Given the description of an element on the screen output the (x, y) to click on. 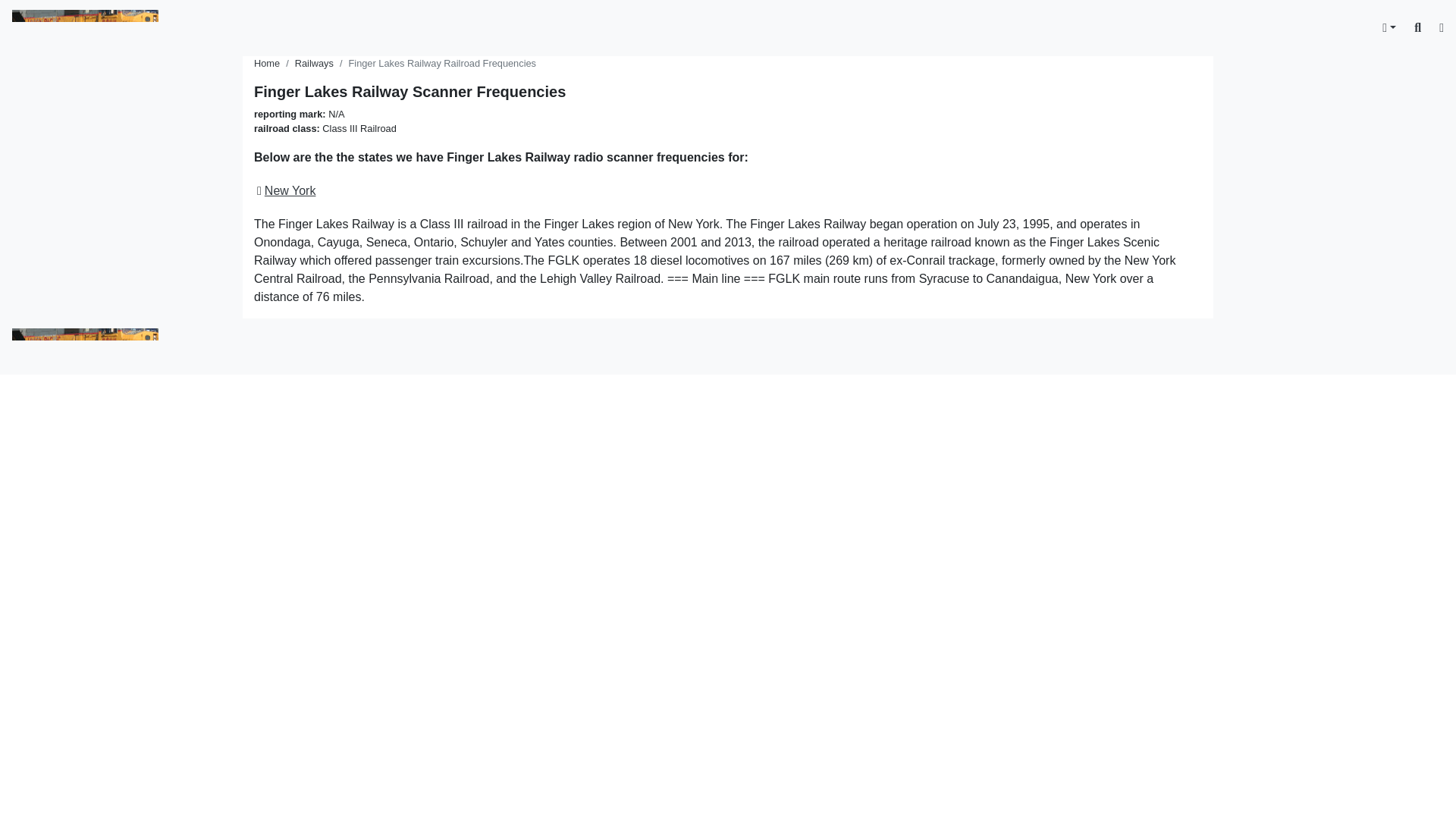
Home (266, 62)
Railways (314, 62)
New York (289, 190)
Finger Lakes Railway Radio Frequencies (727, 91)
